Given the description of an element on the screen output the (x, y) to click on. 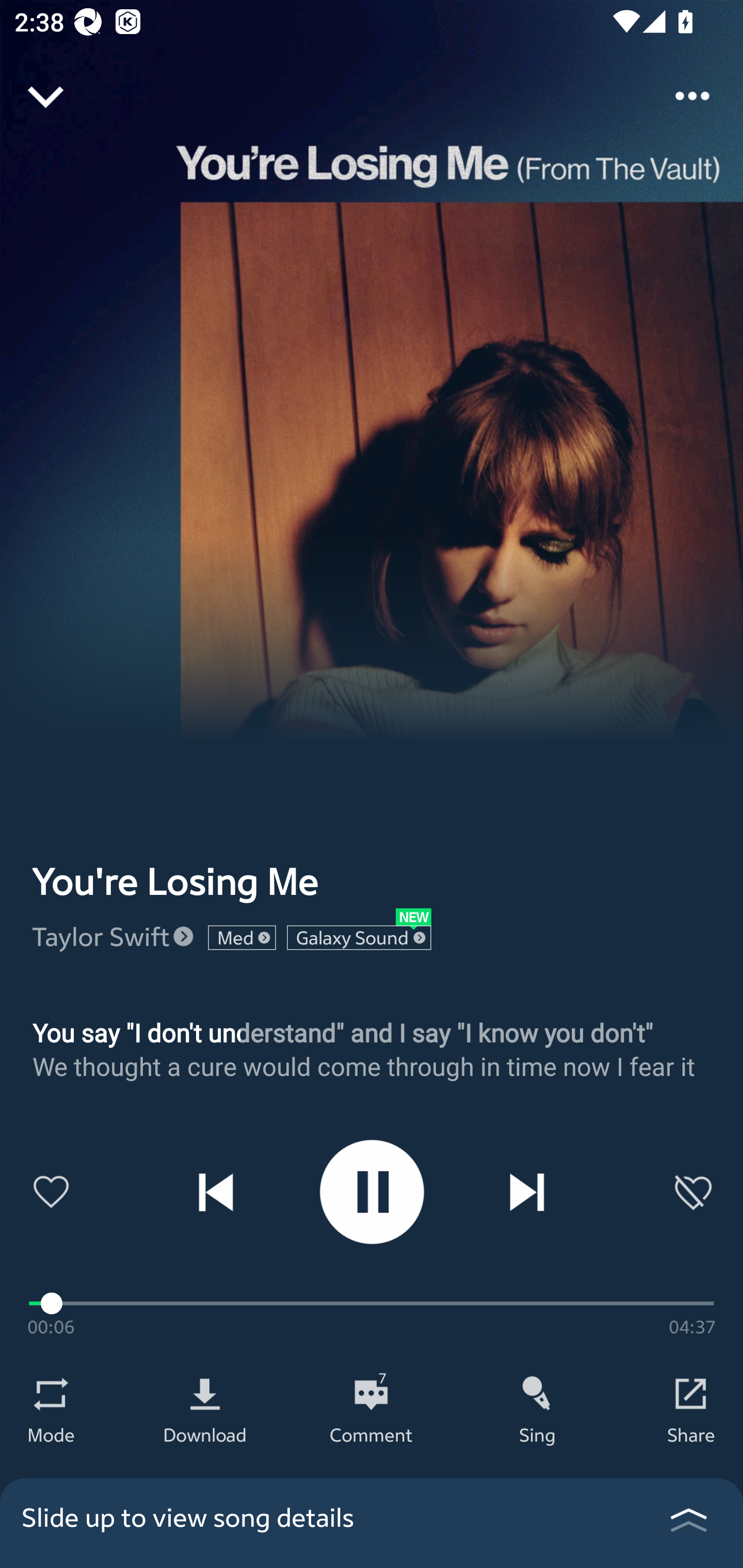
You're Losing Me (175, 881)
Taylor Swift (100, 935)
Med (242, 937)
Galaxy Sound (358, 937)
7 (371, 1393)
Mode (51, 1434)
Download (204, 1434)
Comment (370, 1434)
Sing (537, 1434)
Share (691, 1434)
Slide up to view song details (371, 1523)
